Given the description of an element on the screen output the (x, y) to click on. 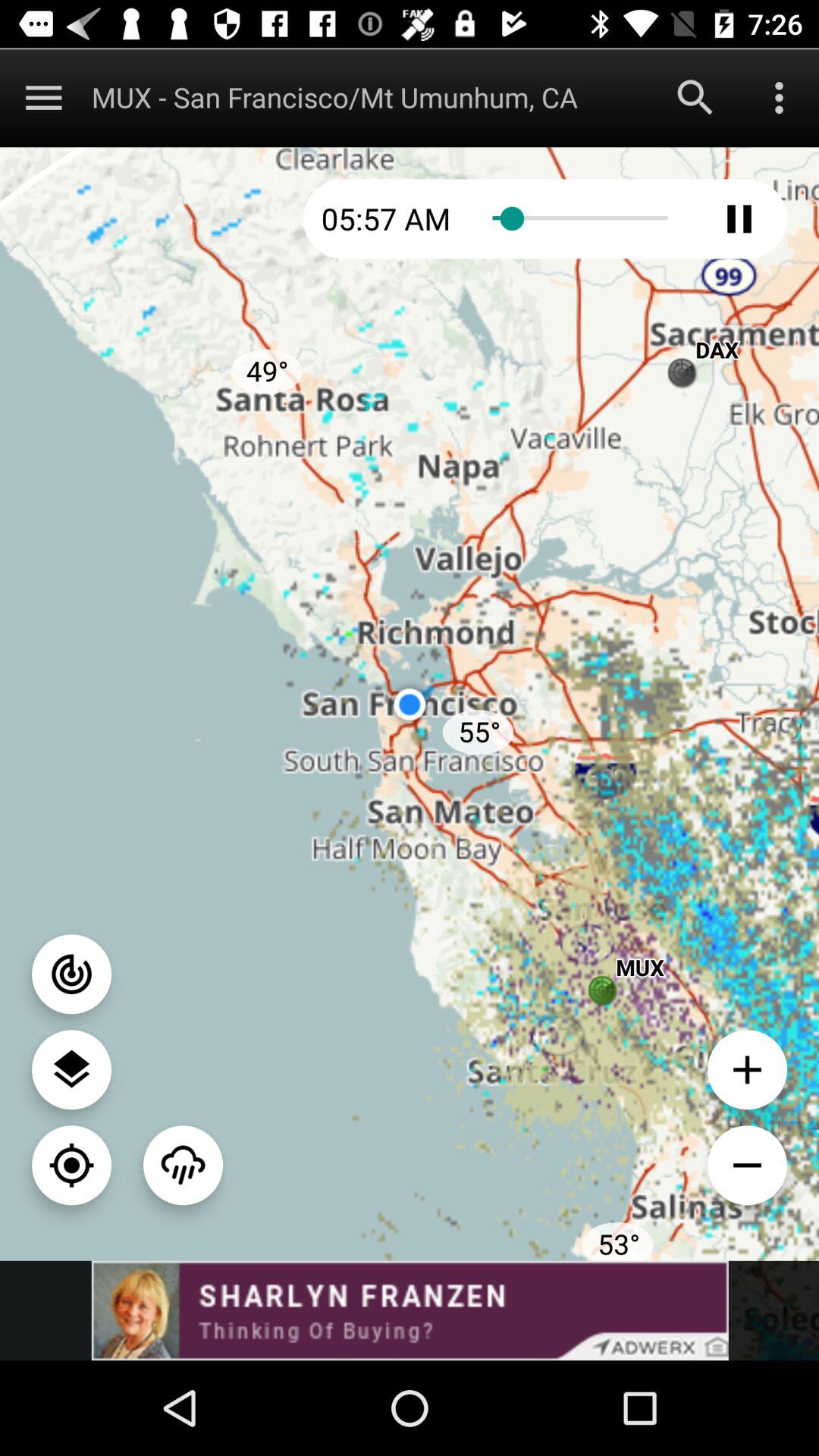
go to menu (43, 97)
